Given the description of an element on the screen output the (x, y) to click on. 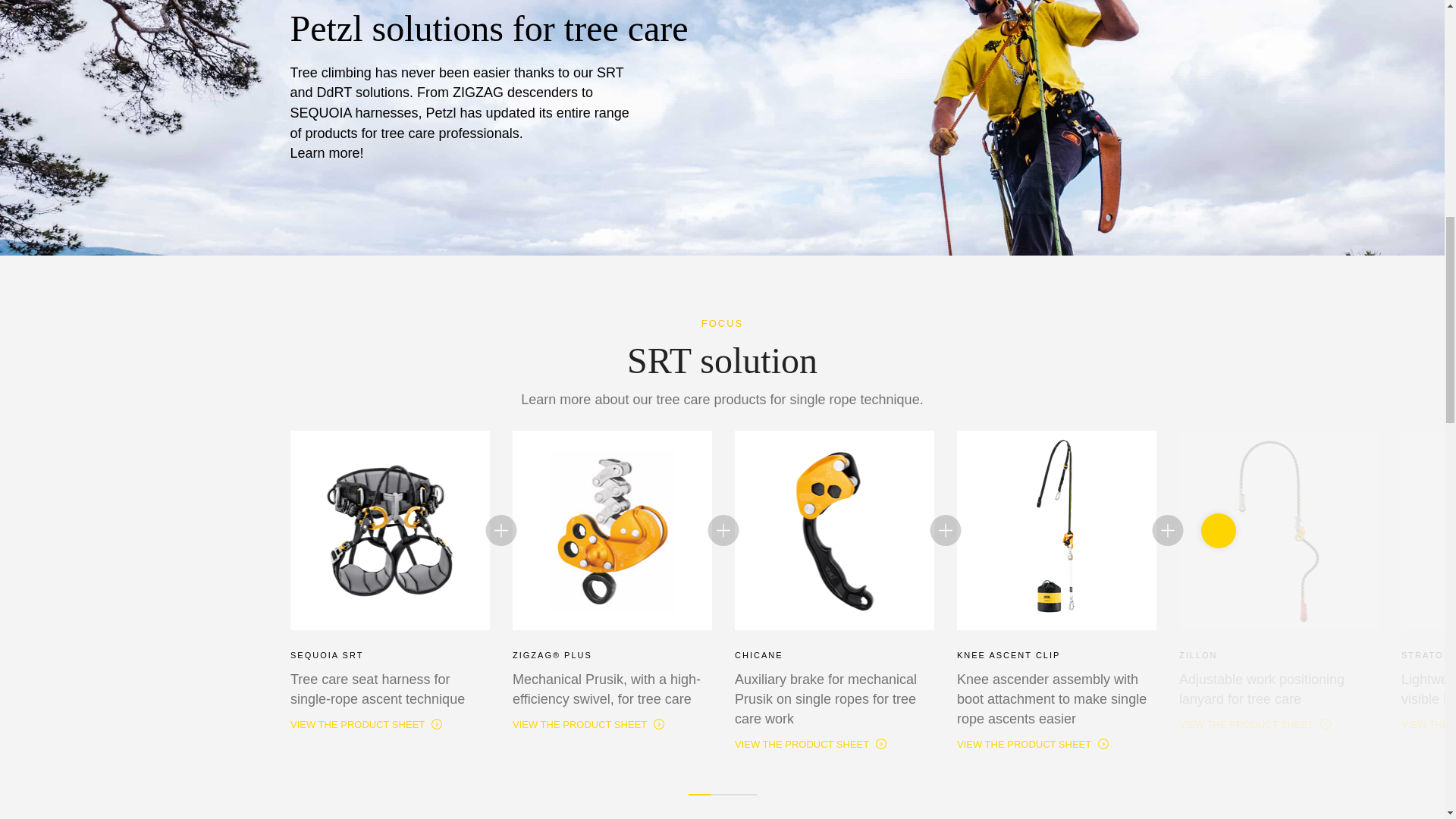
1 (699, 794)
VIEW THE PRODUCT SHEET (366, 724)
2 (722, 794)
VIEW THE PRODUCT SHEET (810, 744)
3 (745, 794)
VIEW THE PRODUCT SHEET (1034, 744)
VIEW THE PRODUCT SHEET (589, 724)
VIEW THE PRODUCT SHEET (1255, 724)
Next (1218, 530)
